Given the description of an element on the screen output the (x, y) to click on. 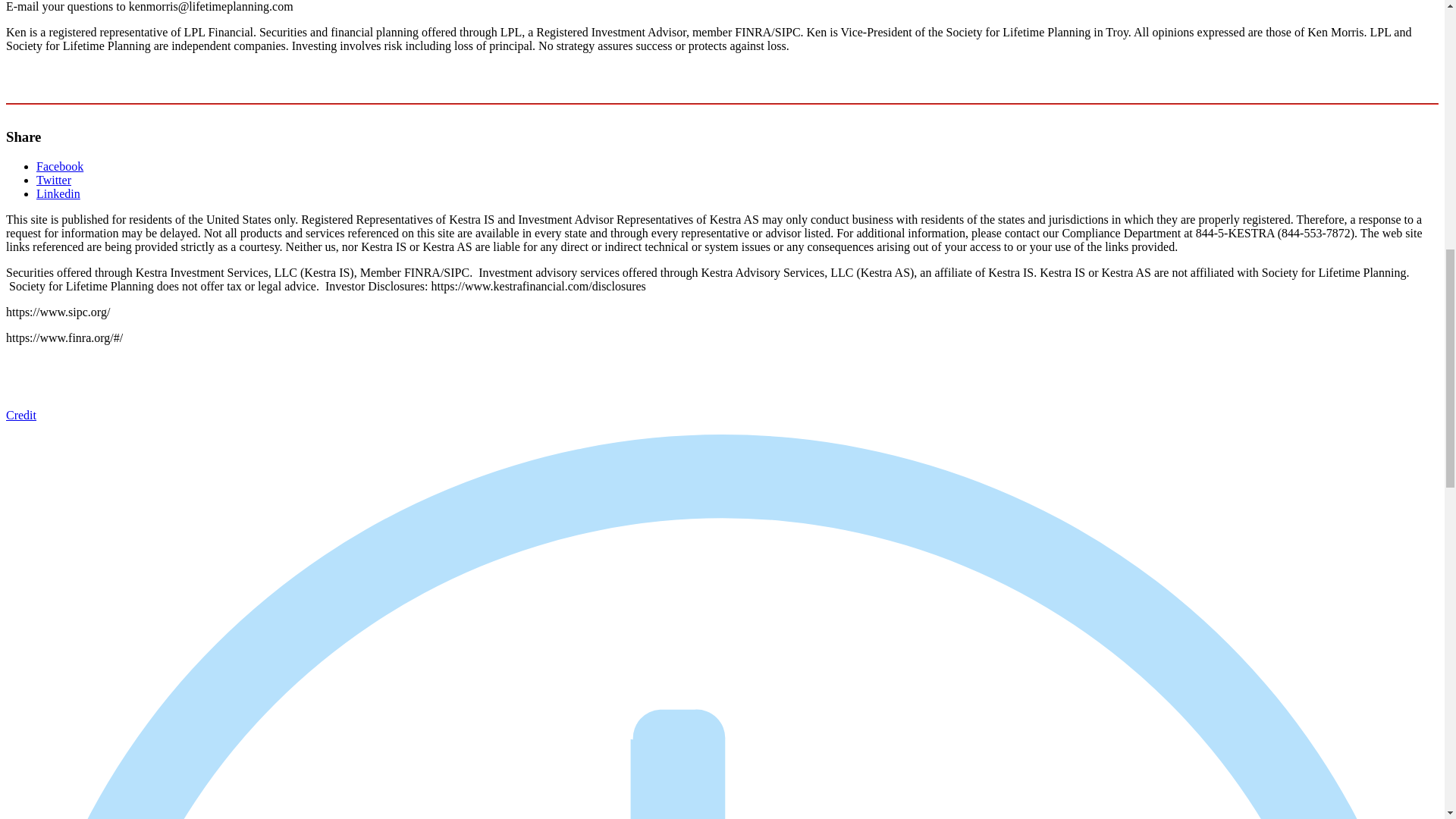
Twitter (53, 179)
Linkedin (58, 193)
Facebook (59, 165)
Credit (20, 414)
